Given the description of an element on the screen output the (x, y) to click on. 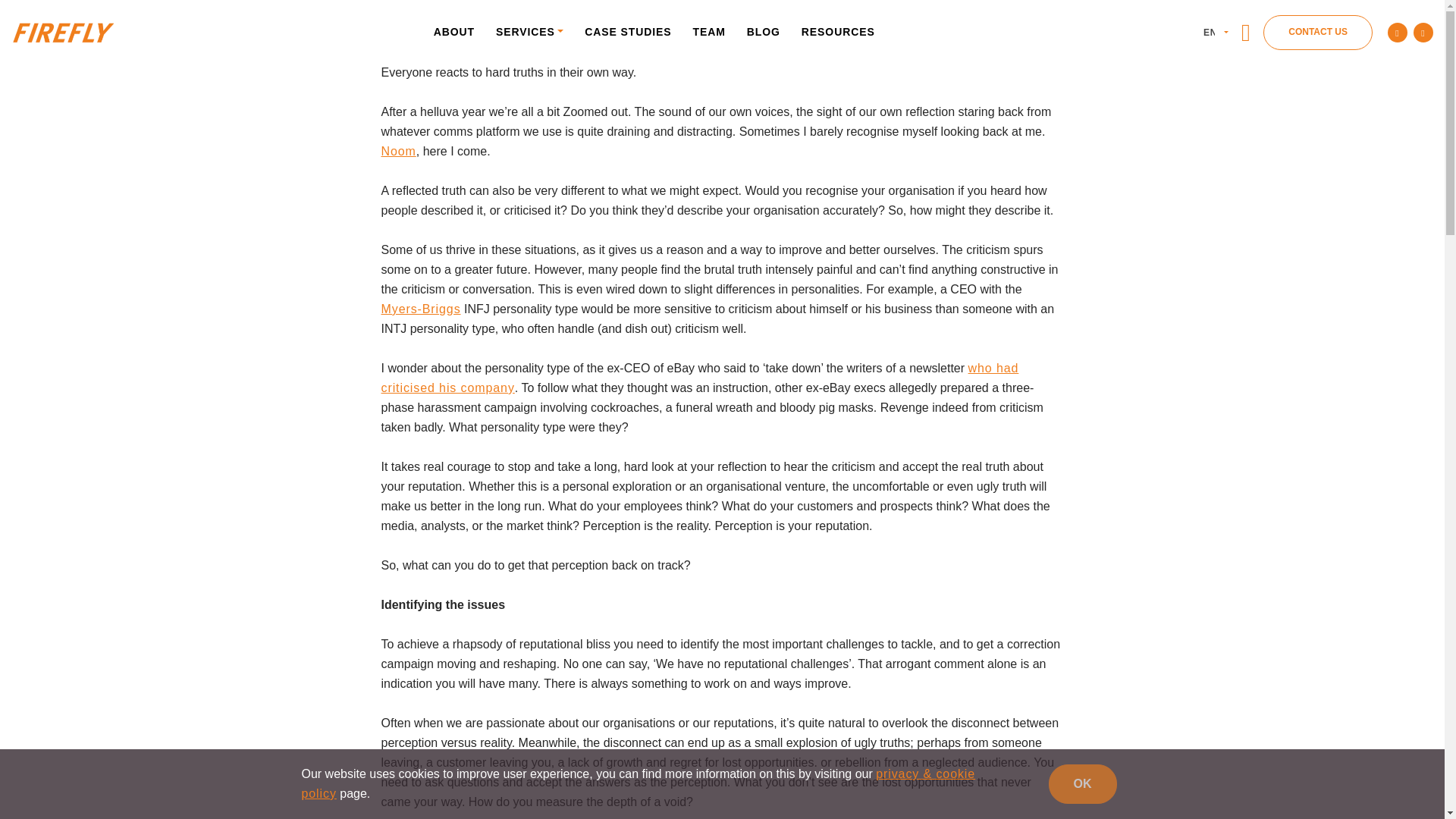
ENGLISH (1214, 31)
ABOUT (453, 30)
SERVICES (528, 30)
About (453, 30)
Services (528, 30)
RESOURCES (837, 30)
BLOG (763, 30)
CASE STUDIES (627, 30)
TEAM (709, 30)
Noom (397, 151)
CONTACT US (1318, 32)
Myers-Briggs (420, 308)
